Given the description of an element on the screen output the (x, y) to click on. 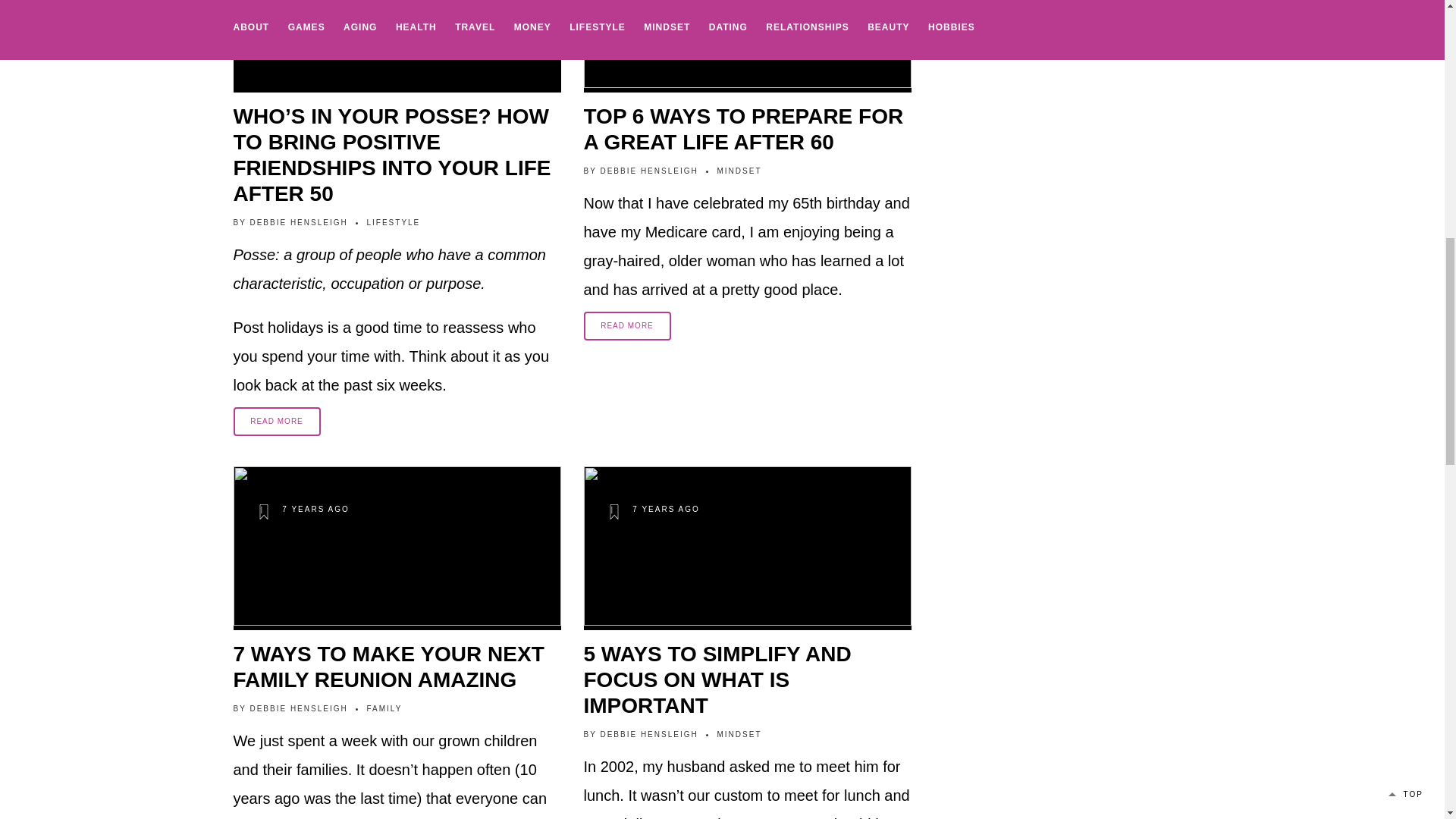
5 Ways to Simplify and Focus on What is Important (747, 680)
7 Ways to Make Your Next Family Reunion Amazing (396, 666)
Top 6 Ways to Prepare for a Great Life After 60 (747, 129)
